Given the description of an element on the screen output the (x, y) to click on. 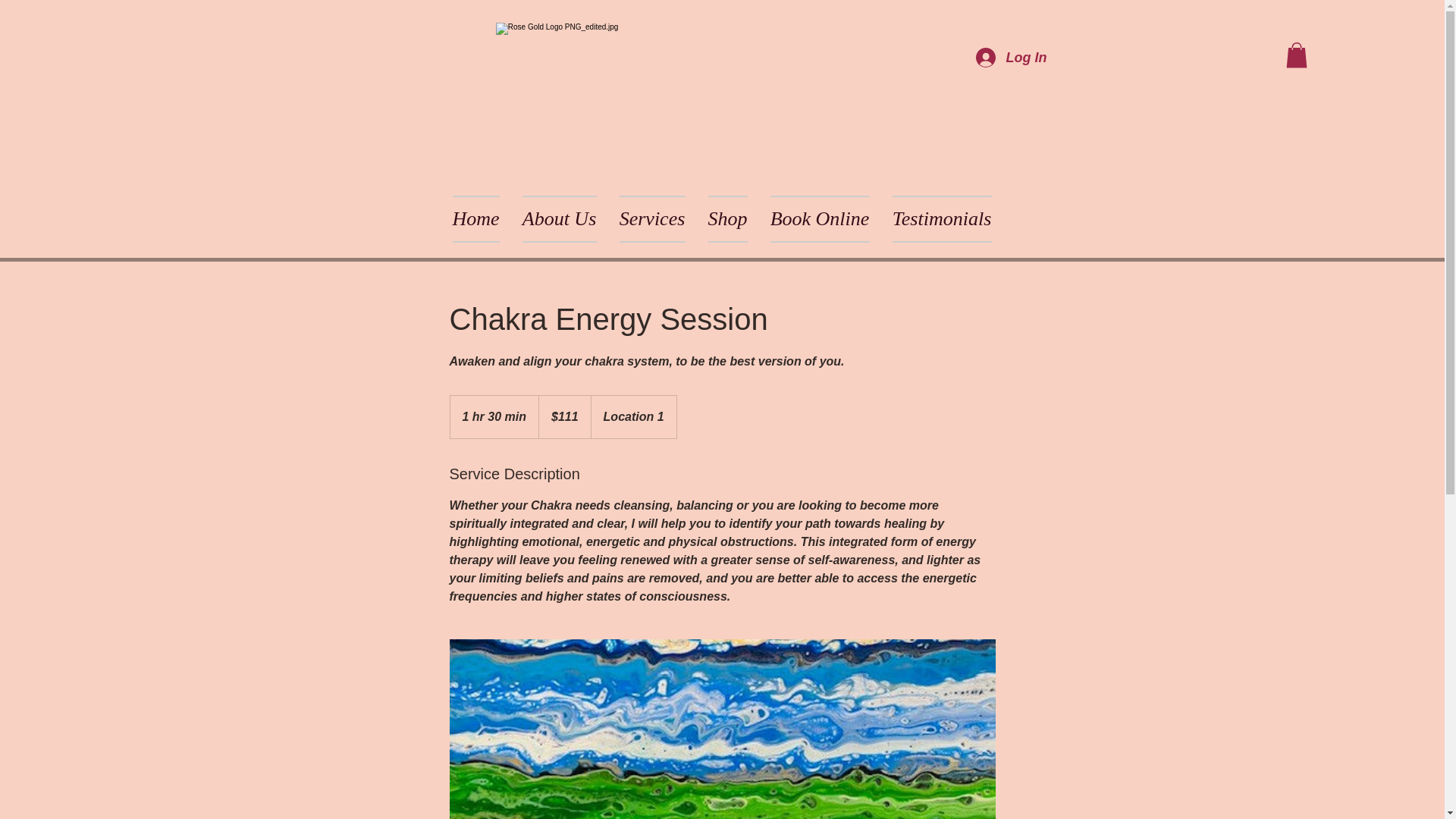
Home (476, 218)
Log In (1009, 57)
About Us (559, 218)
Shop (726, 218)
Testimonials (941, 218)
Services (652, 218)
Book Online (819, 218)
